Given the description of an element on the screen output the (x, y) to click on. 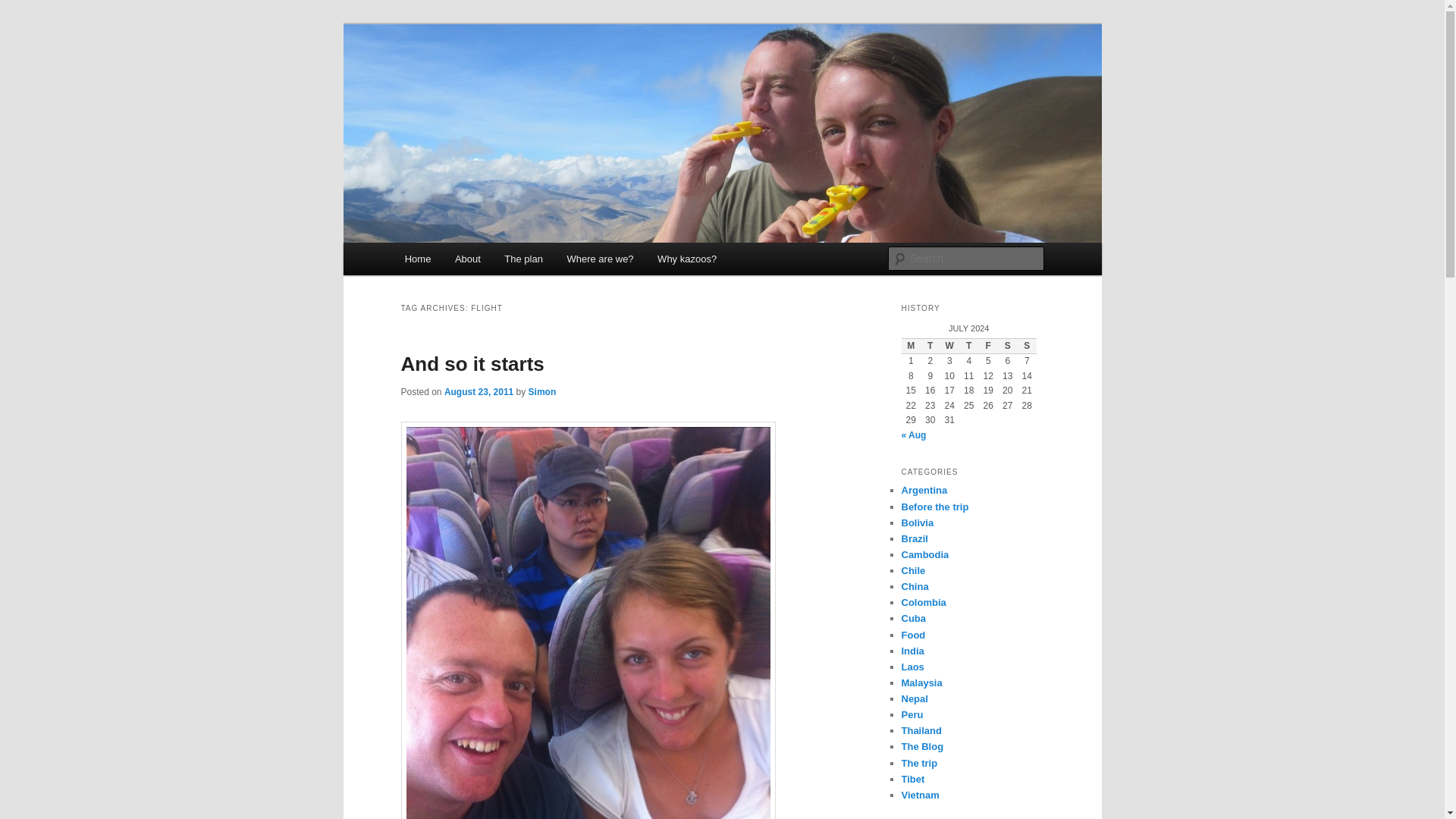
Malaysia (921, 682)
2:50 pm (478, 391)
Permalink to And so it starts (471, 363)
The trip (919, 763)
Saturday (1007, 346)
Thailand (920, 730)
Skip to secondary content (479, 261)
Nepal (914, 698)
Colombia (922, 602)
Travels with a kazoo (510, 78)
Peru (912, 714)
August 23, 2011 (478, 391)
About (467, 258)
View all posts by Simon (542, 391)
Argentina (924, 490)
